Given the description of an element on the screen output the (x, y) to click on. 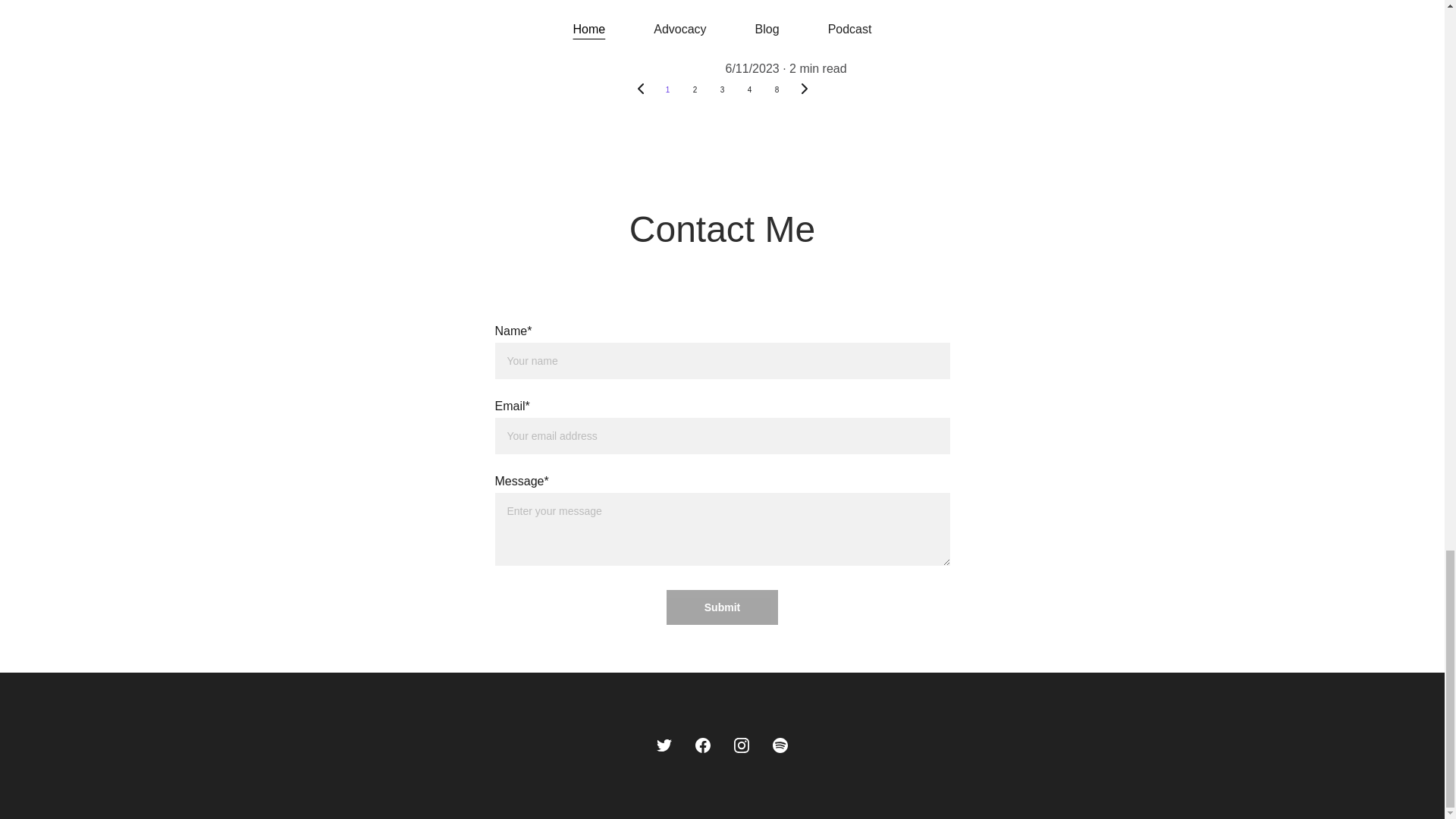
1 (667, 90)
Go to Facebook page (702, 744)
Submit (721, 606)
Go to Twitter page (663, 744)
4 (748, 90)
8 (776, 90)
3 (721, 90)
Go to Instagram page (741, 744)
Go to Spotify page (780, 744)
2 (694, 90)
